Given the description of an element on the screen output the (x, y) to click on. 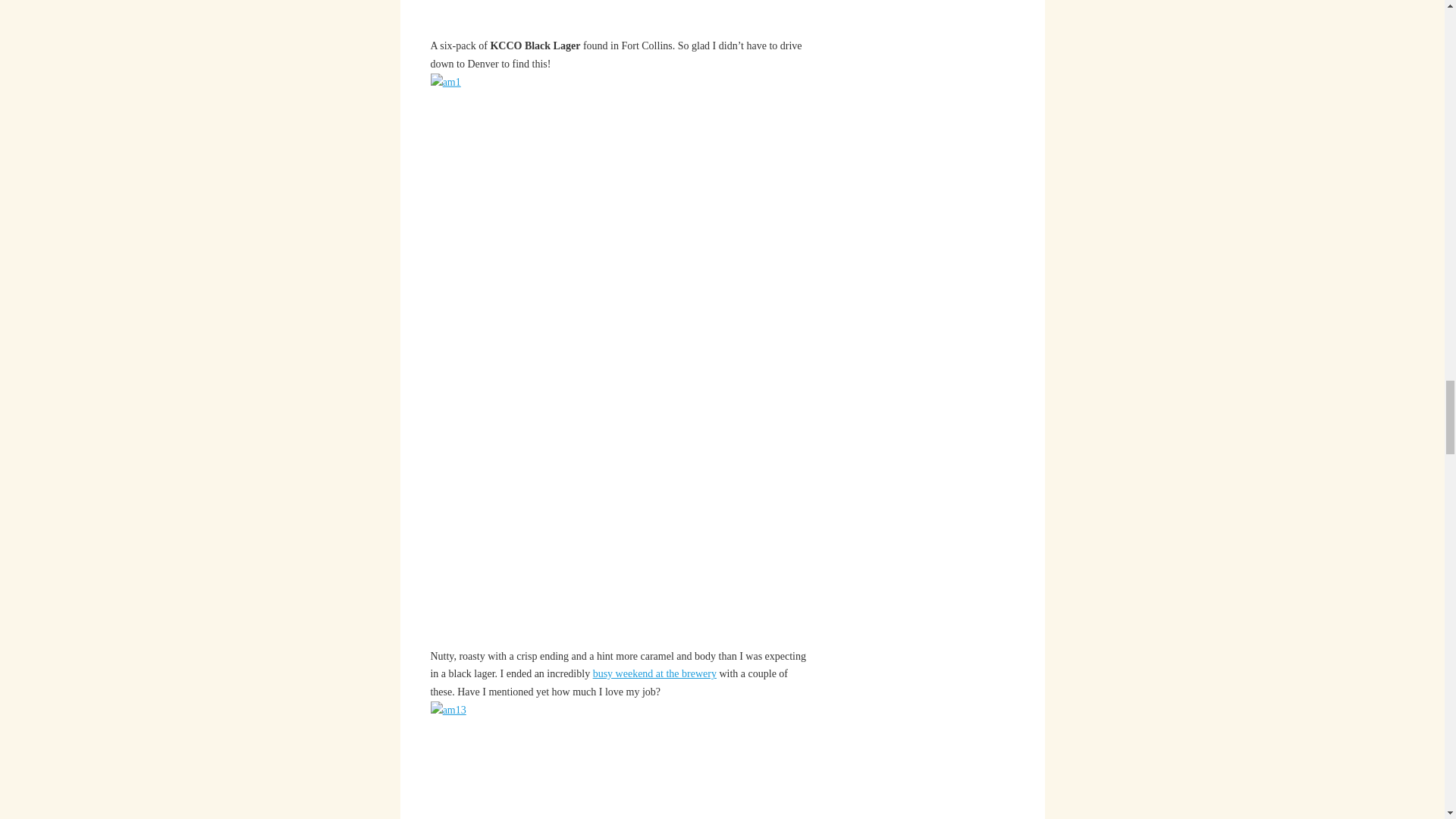
Fun-Employment (654, 673)
busy weekend at the brewery (654, 673)
